Given the description of an element on the screen output the (x, y) to click on. 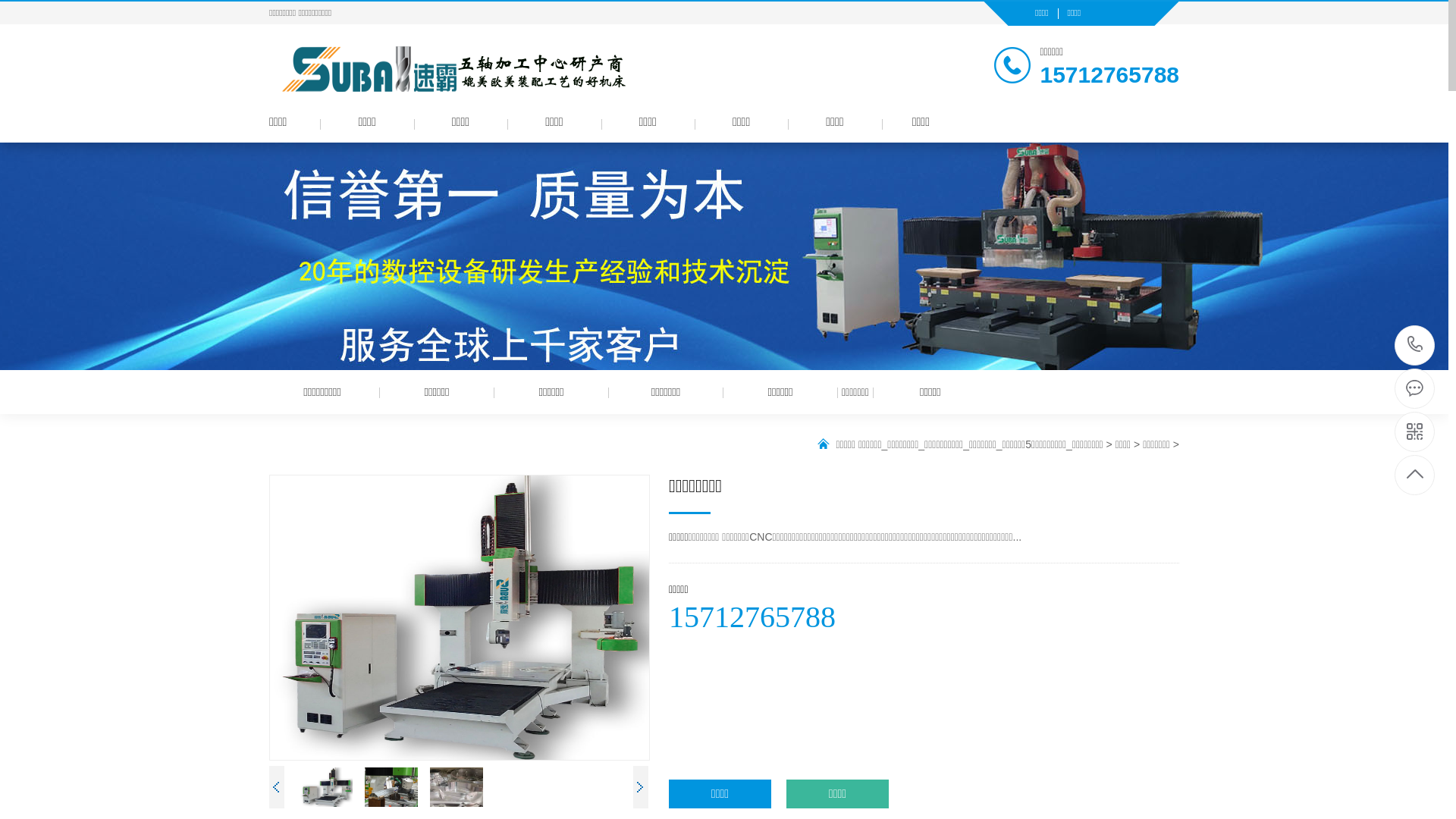
15712765788 Element type: text (1415, 345)
